Given the description of an element on the screen output the (x, y) to click on. 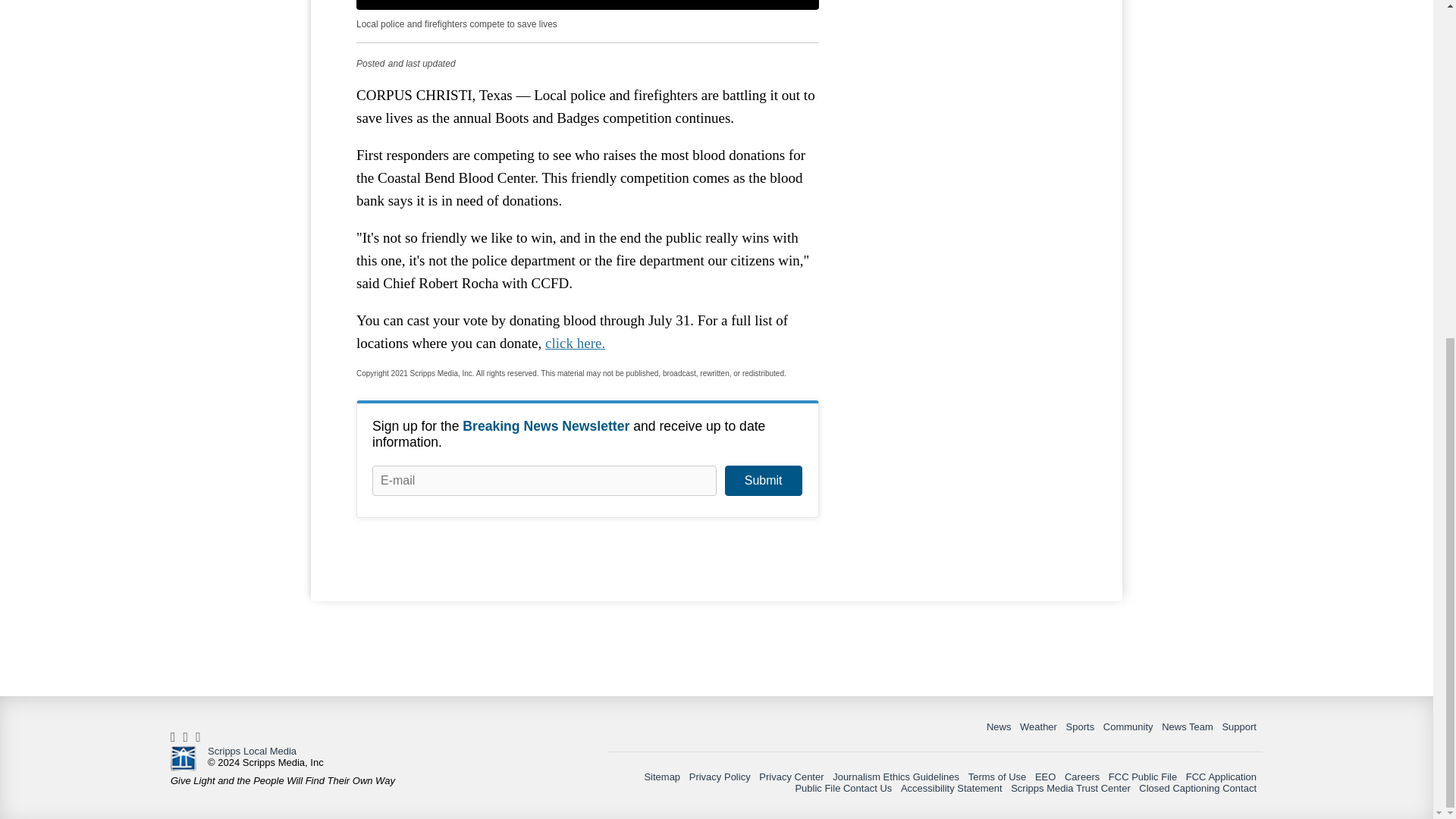
Submit (763, 481)
